Given the description of an element on the screen output the (x, y) to click on. 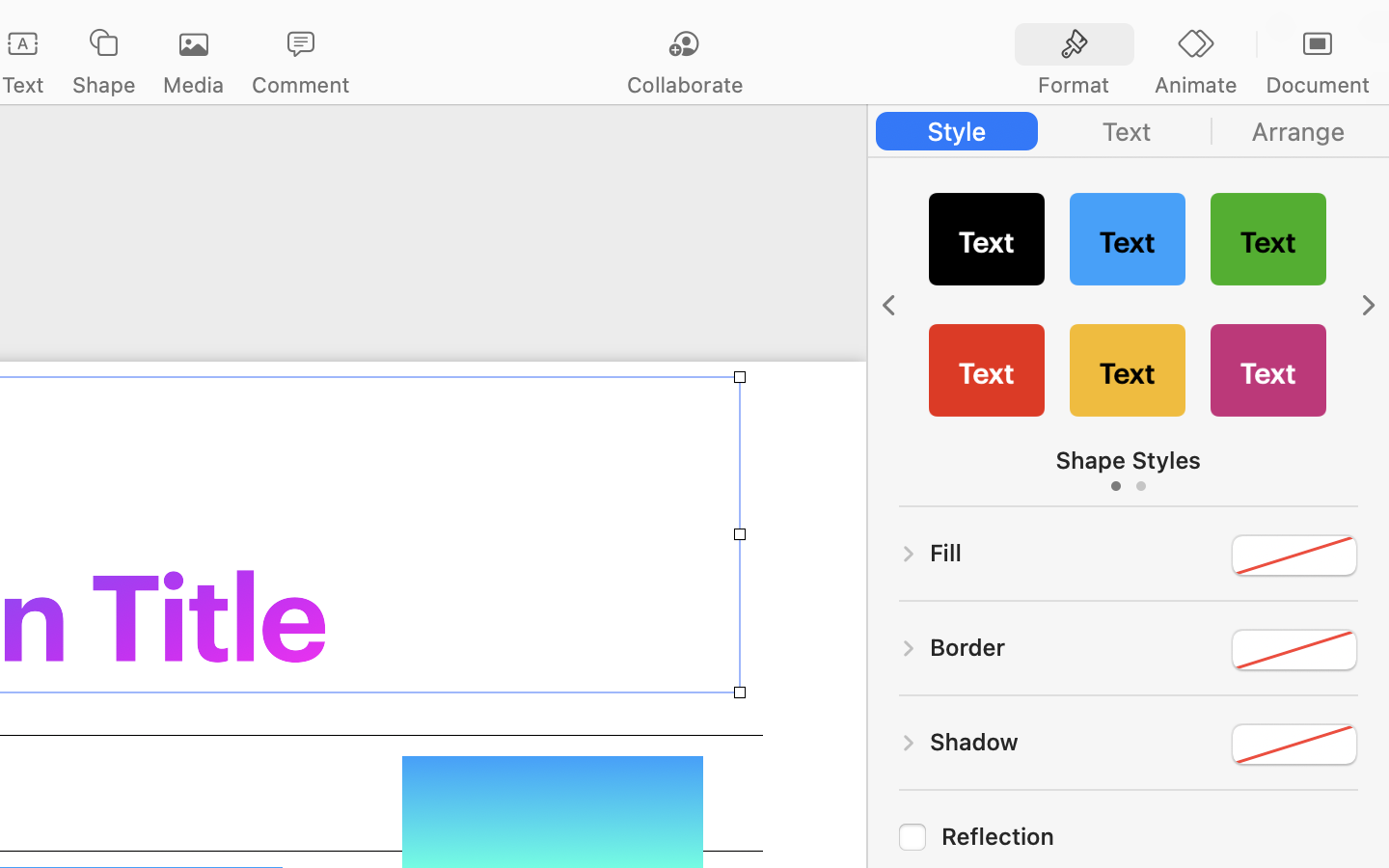
Untitled Element type: AXStaticText (81, 24)
<AXUIElement 0x2a41f9e50> {pid=1697} Element type: AXGroup (1195, 45)
Reflection Element type: AXStaticText (1149, 835)
Format Element type: AXStaticText (1073, 84)
